Given the description of an element on the screen output the (x, y) to click on. 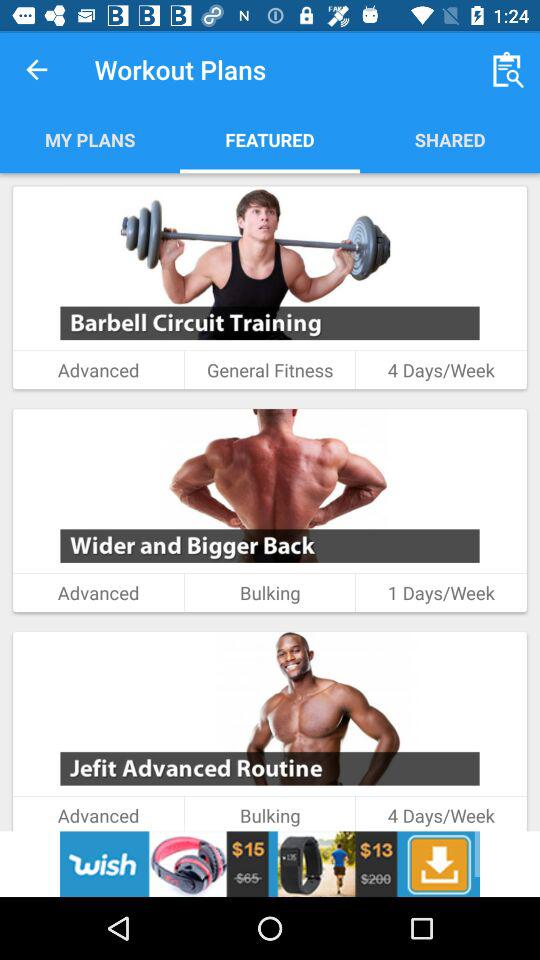
advertisement (270, 864)
